Given the description of an element on the screen output the (x, y) to click on. 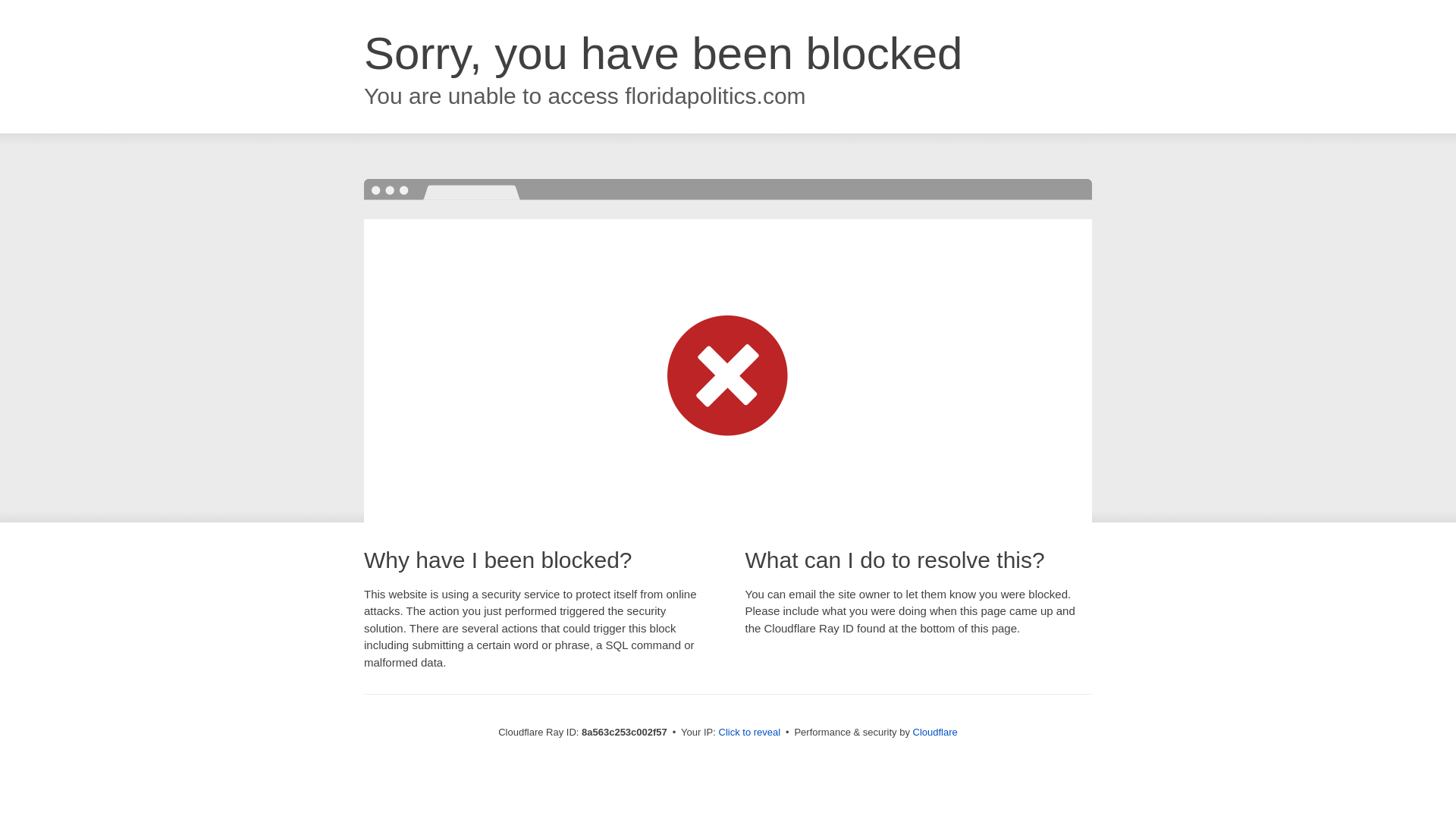
Click to reveal (749, 732)
Cloudflare (935, 731)
